Given the description of an element on the screen output the (x, y) to click on. 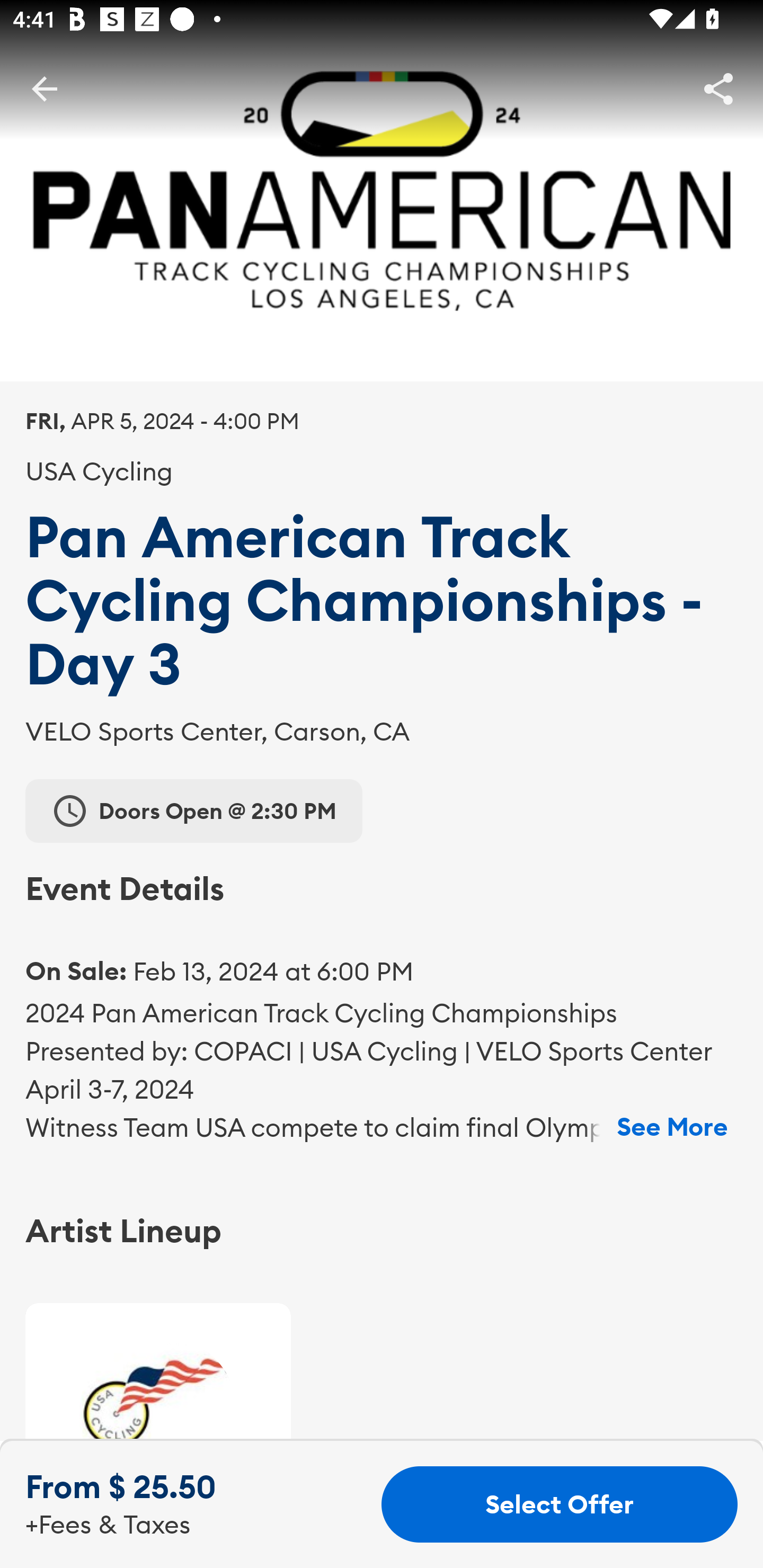
BackButton (44, 88)
Share (718, 88)
See More (671, 1127)
Select Offer (559, 1504)
